Given the description of an element on the screen output the (x, y) to click on. 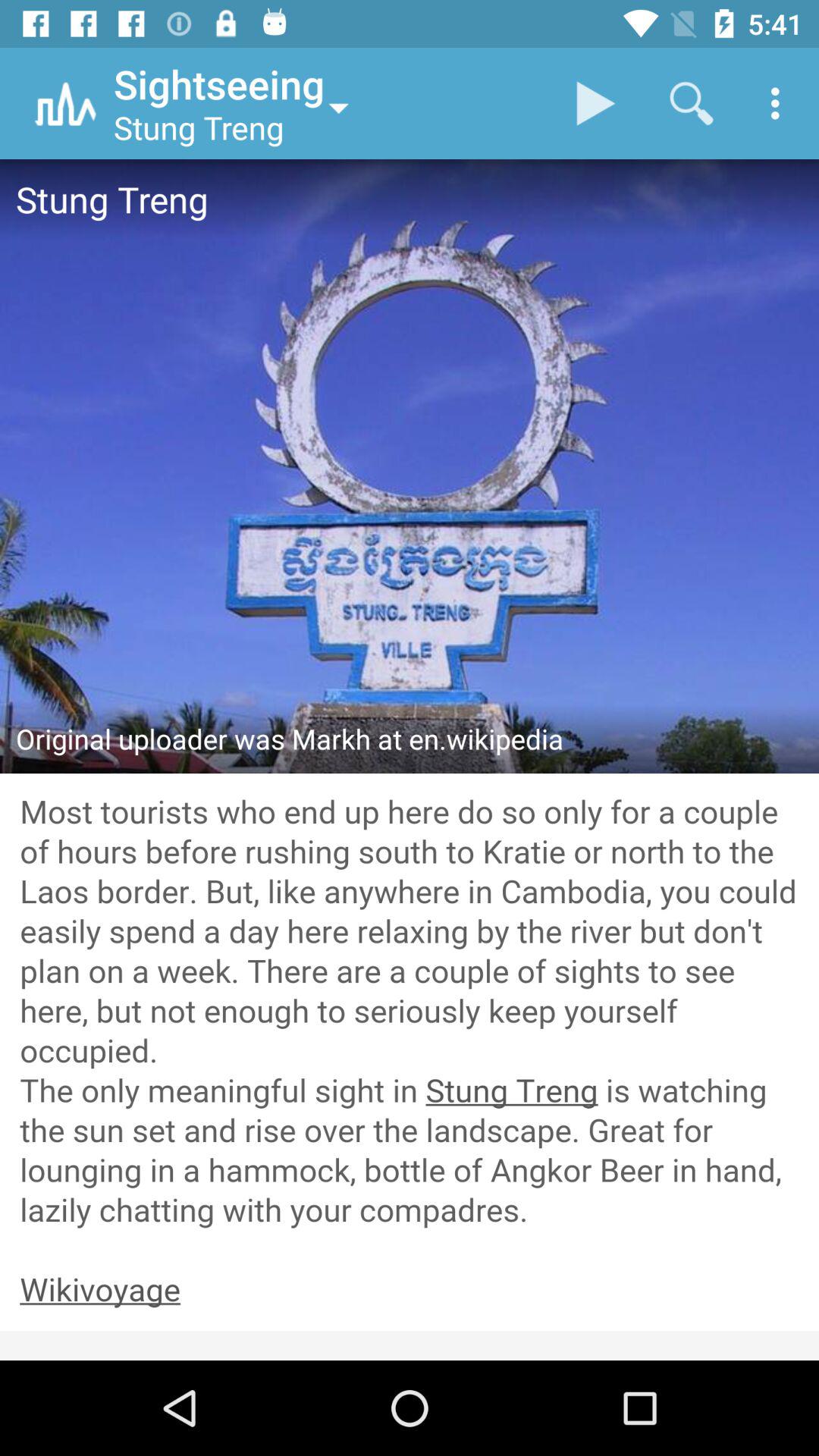
go to new page (409, 1290)
